Given the description of an element on the screen output the (x, y) to click on. 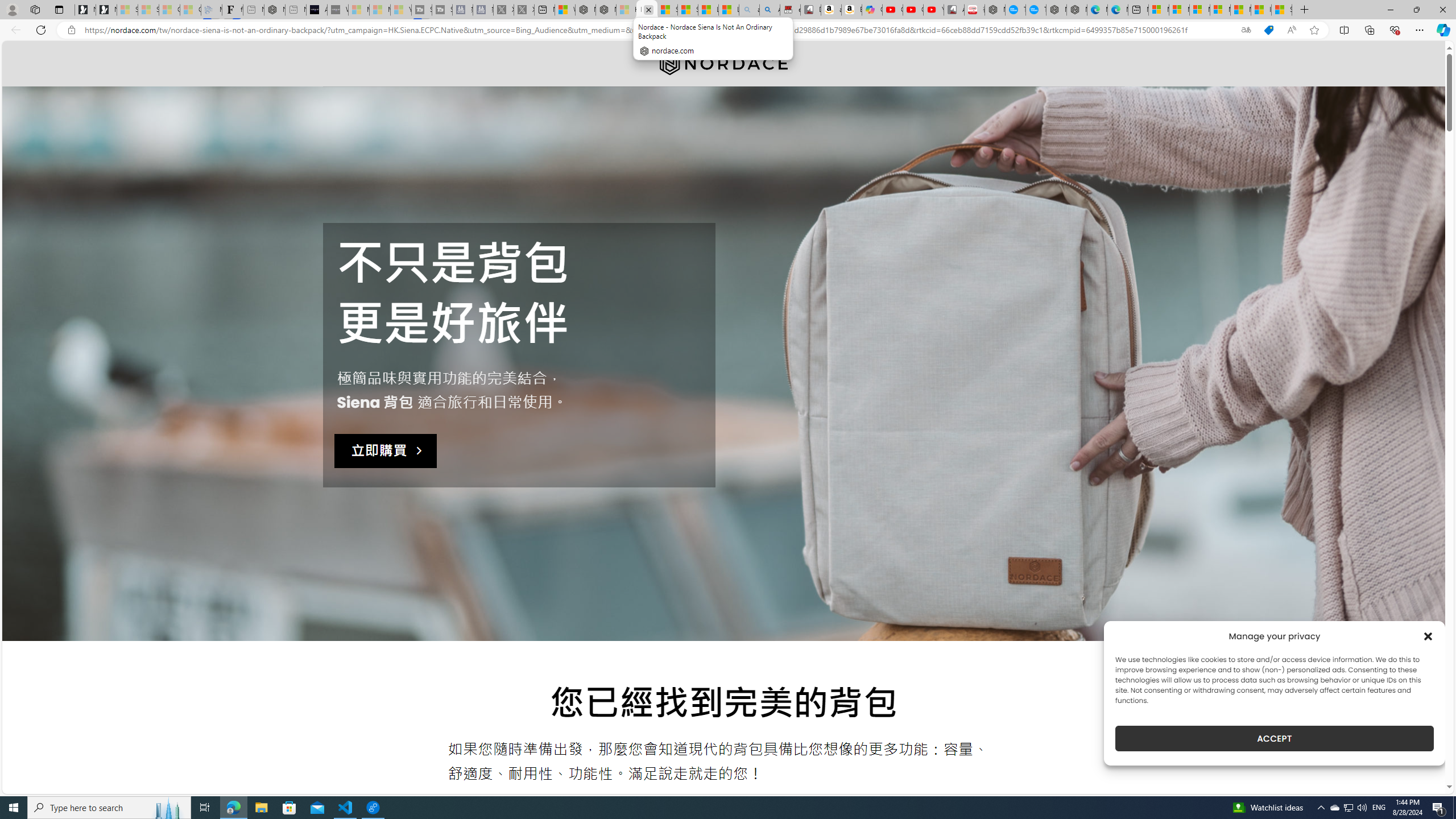
Class: cmplz-close (1428, 636)
Microsoft Start - Sleeping (379, 9)
Nordace - My Account (994, 9)
amazon.in/dp/B0CX59H5W7/?tag=gsmcom05-21 (830, 9)
amazon - Search - Sleeping (748, 9)
Show translate options (1245, 29)
